Given the description of an element on the screen output the (x, y) to click on. 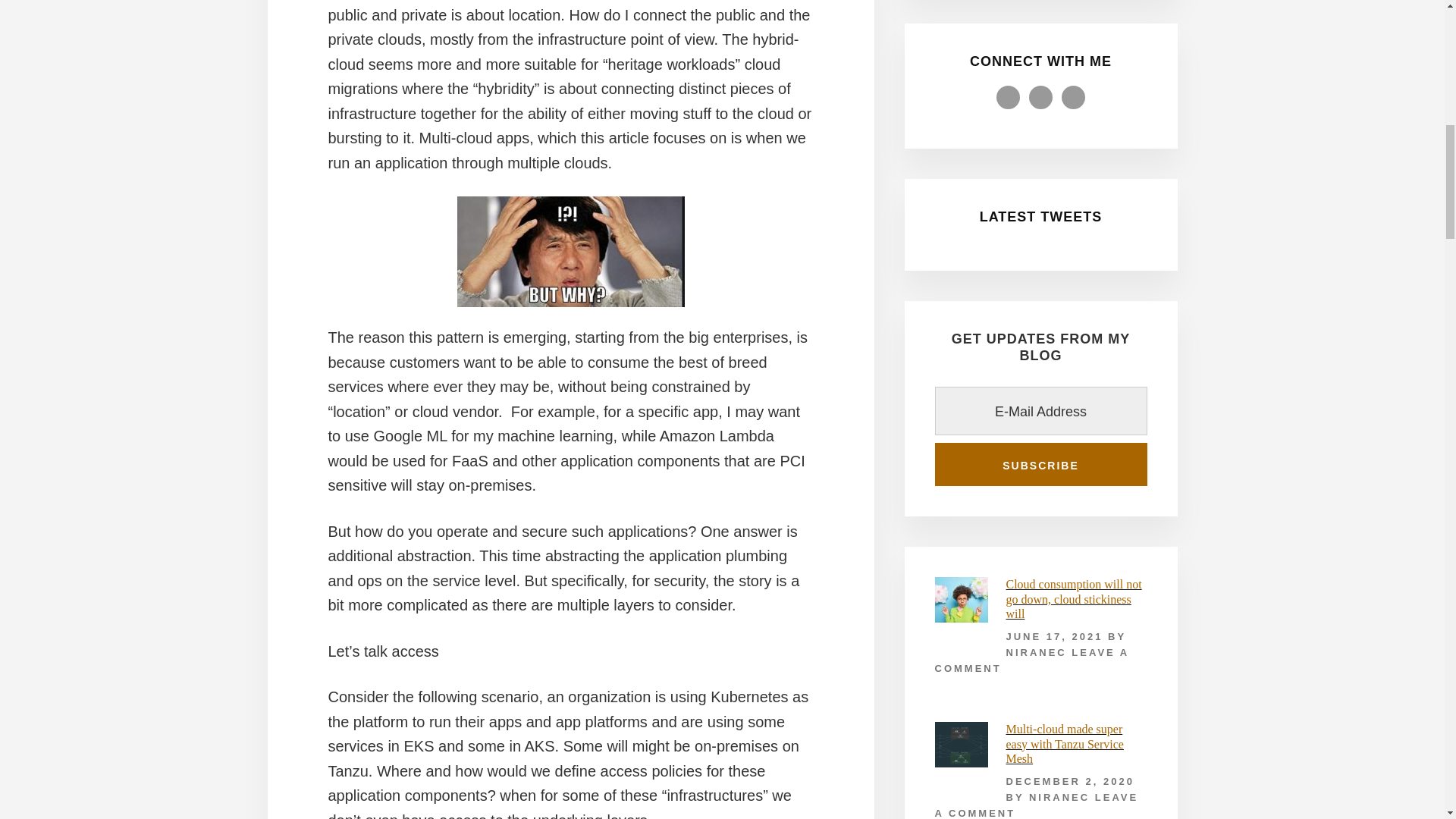
Cloud consumption will not go down, cloud stickiness will (1073, 598)
Subscribe (1040, 464)
LEAVE A COMMENT (1036, 805)
Subscribe (1040, 464)
Multi-cloud made super easy with Tanzu Service Mesh (1064, 743)
NIRANEC (1035, 652)
NIRANEC (1059, 797)
LEAVE A COMMENT (1031, 660)
